Given the description of an element on the screen output the (x, y) to click on. 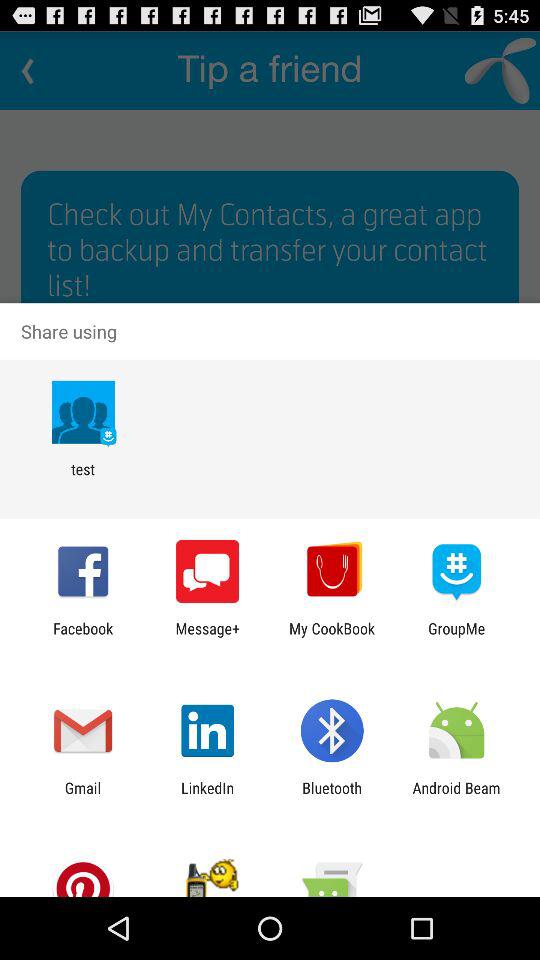
select the app to the right of bluetooth app (456, 796)
